Given the description of an element on the screen output the (x, y) to click on. 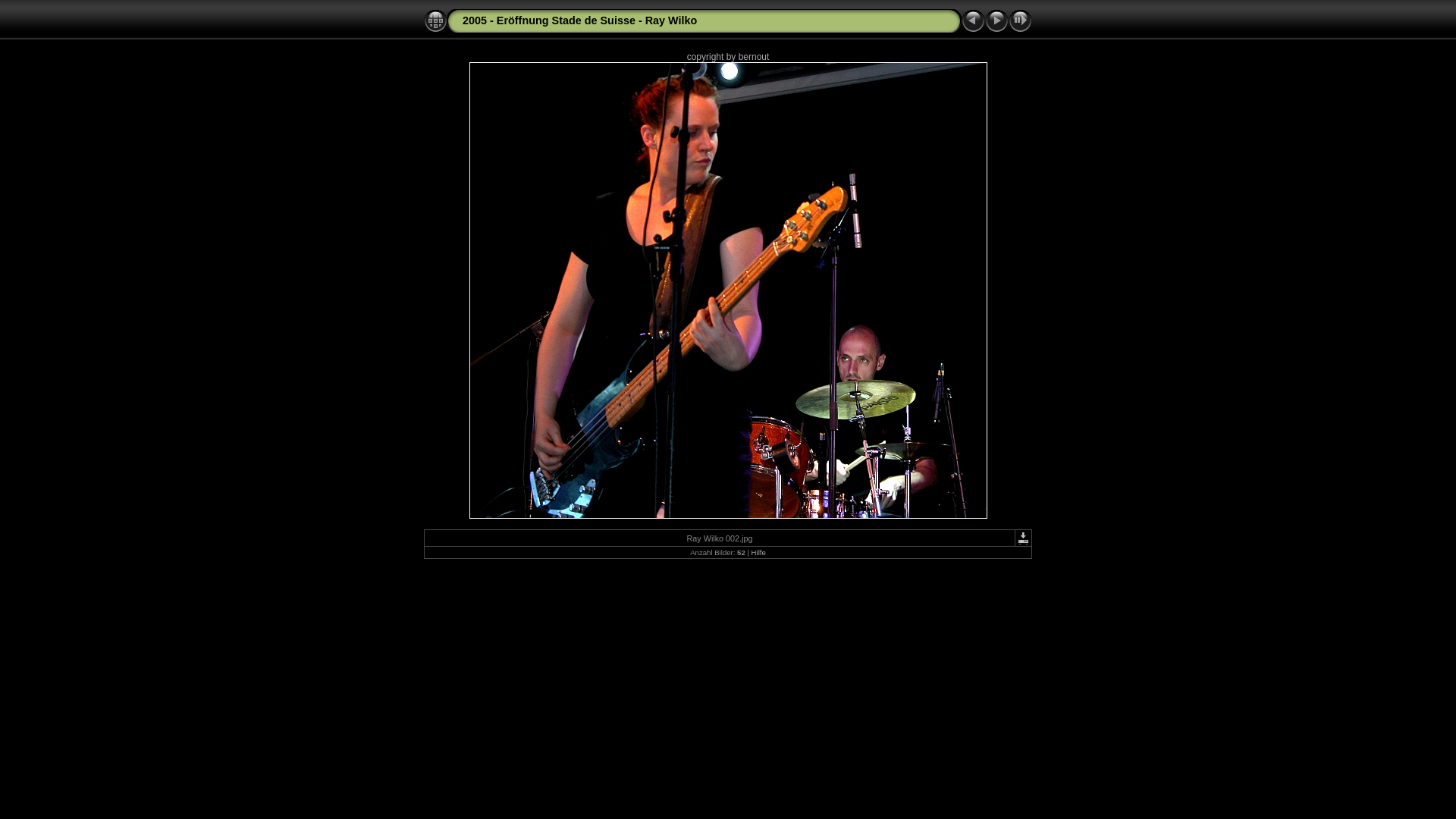
 Voriges Bild  Element type: hover (973, 20)
Hilfe Element type: text (758, 552)
 Index  Element type: hover (435, 20)
